Given the description of an element on the screen output the (x, y) to click on. 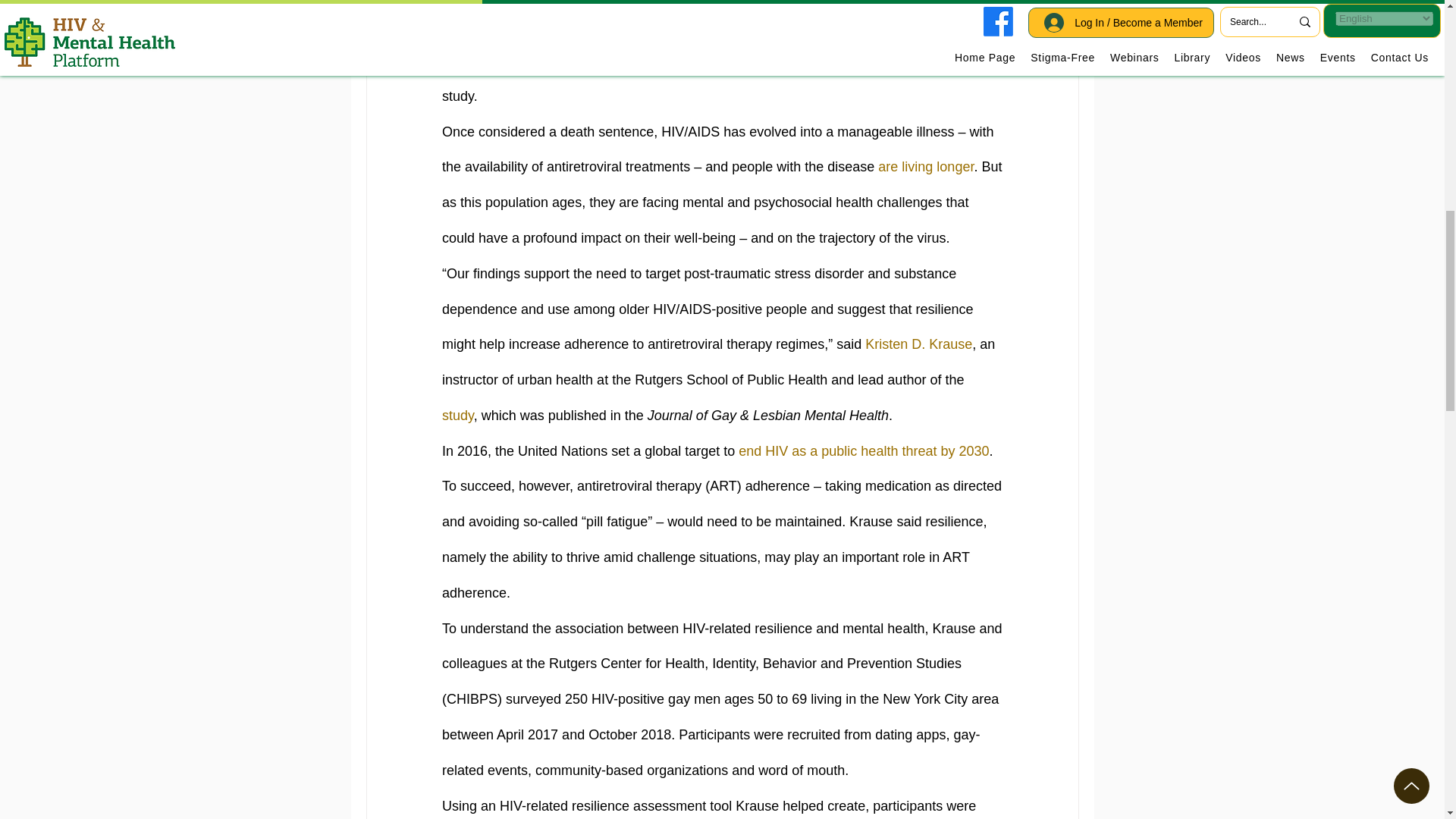
end HIV as a public health threat by 2030 (863, 450)
study (457, 415)
Kristen D. Krause (918, 344)
are living longer (925, 166)
